Given the description of an element on the screen output the (x, y) to click on. 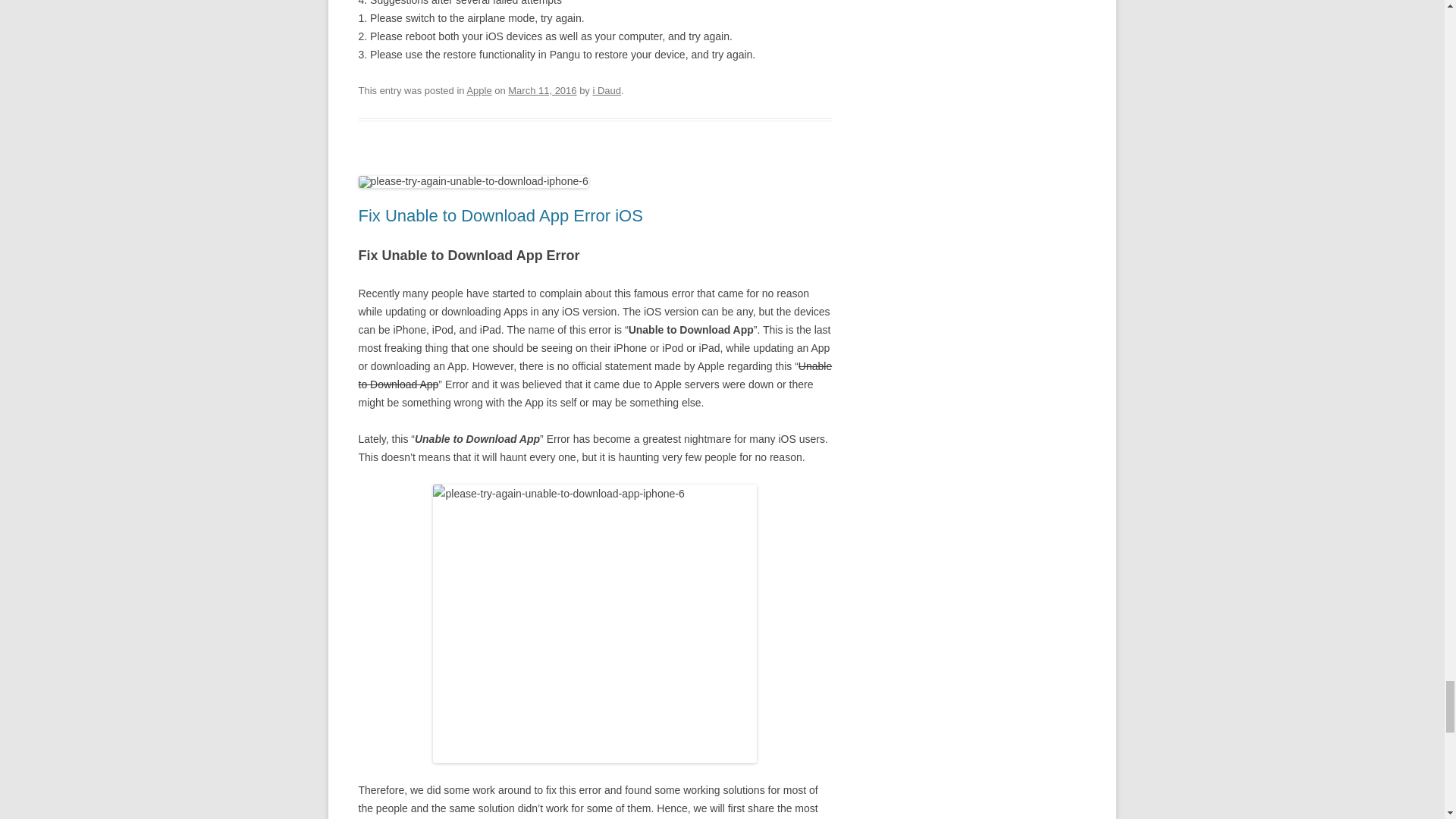
View all posts by i Daud (606, 90)
8:19 PM (542, 90)
